Given the description of an element on the screen output the (x, y) to click on. 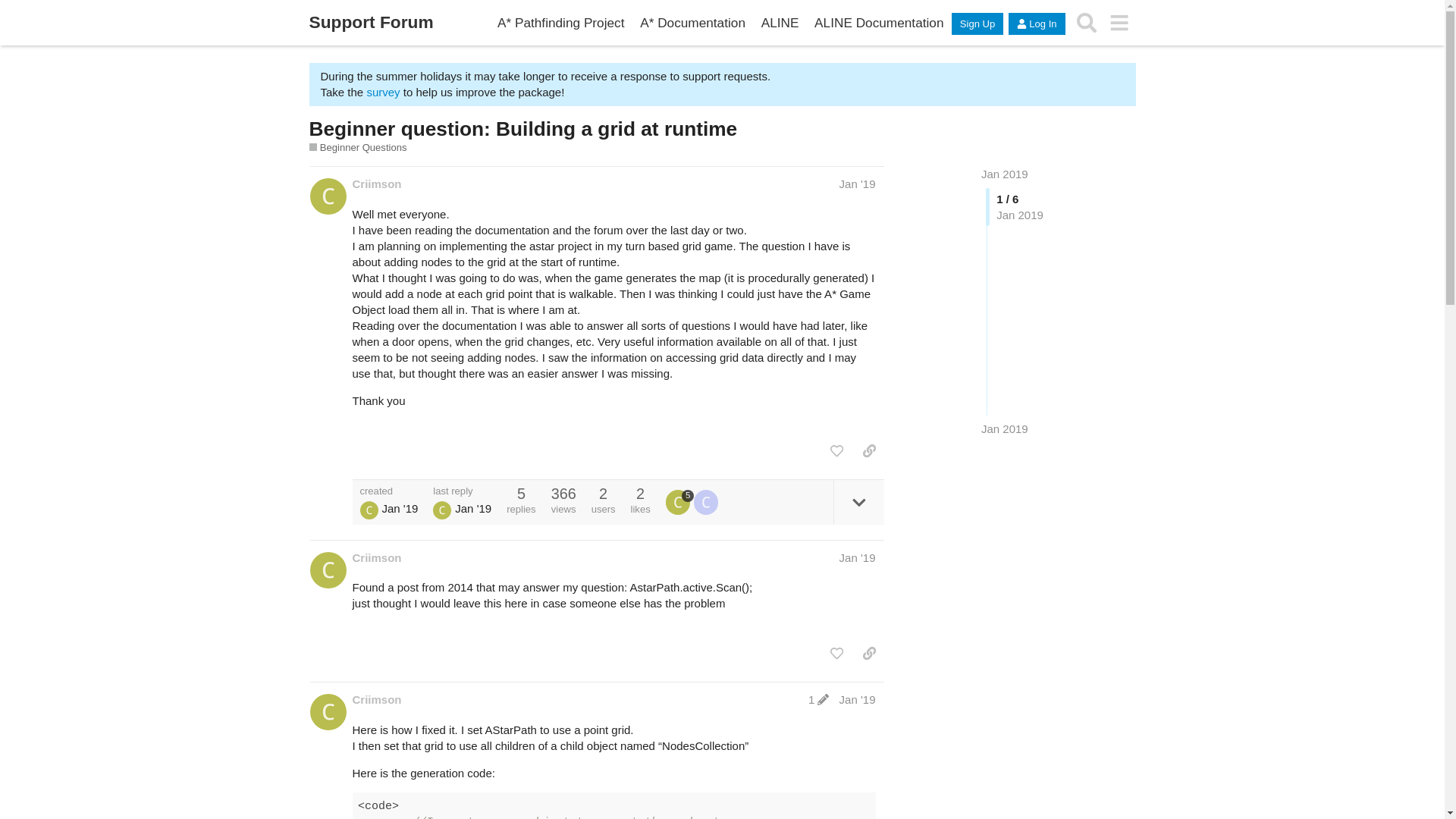
Support Forum (370, 22)
Beginner question: Building a grid at runtime (523, 128)
survey (382, 91)
5 (679, 501)
Jan 2019 (1004, 428)
last reply (462, 491)
Shane Barnett (441, 509)
Jan 2019 (1004, 173)
Post date (858, 183)
Just started with the project and have a simple question? (357, 147)
Jan 2019 (1004, 173)
ALINE Home (779, 22)
ALINE (779, 22)
Log In (1036, 24)
Jan 4, 2019 2:35 am (1004, 428)
